Given the description of an element on the screen output the (x, y) to click on. 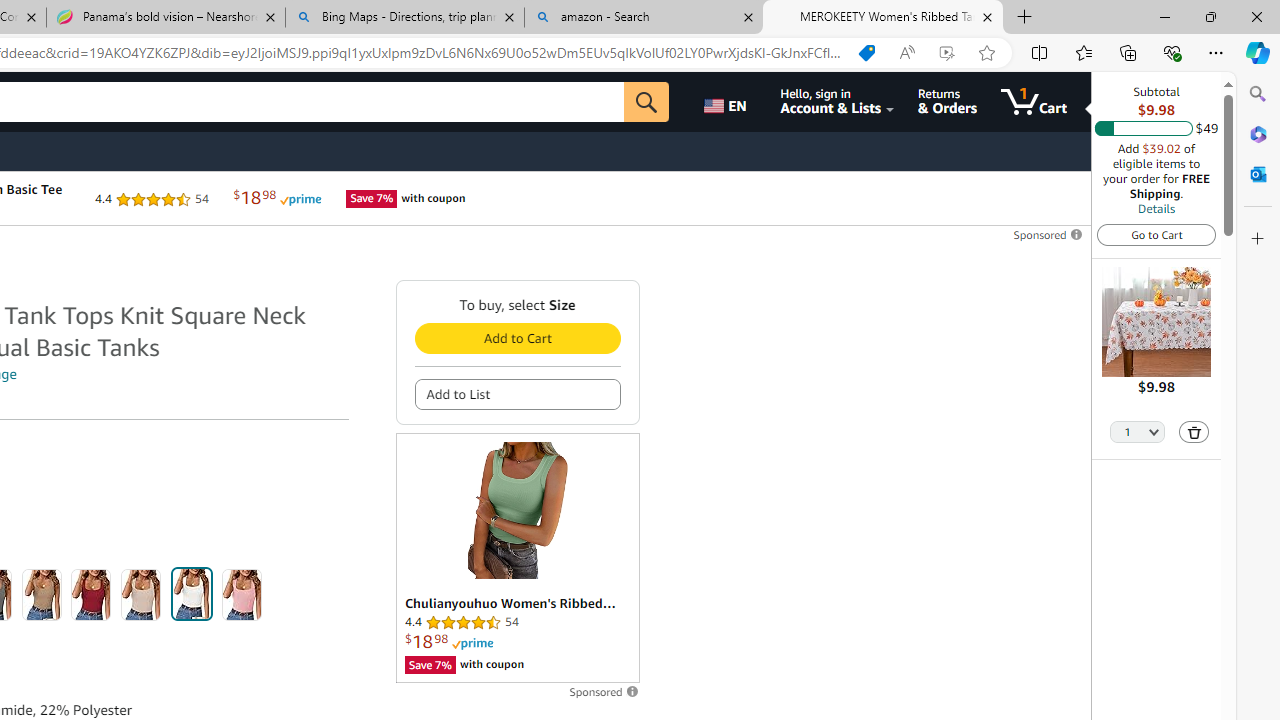
amazon - Search (643, 17)
Delete (1194, 431)
Choose a language for shopping. (728, 101)
1 item in cart (1034, 101)
White (191, 593)
Red (91, 594)
Go (646, 101)
